Given the description of an element on the screen output the (x, y) to click on. 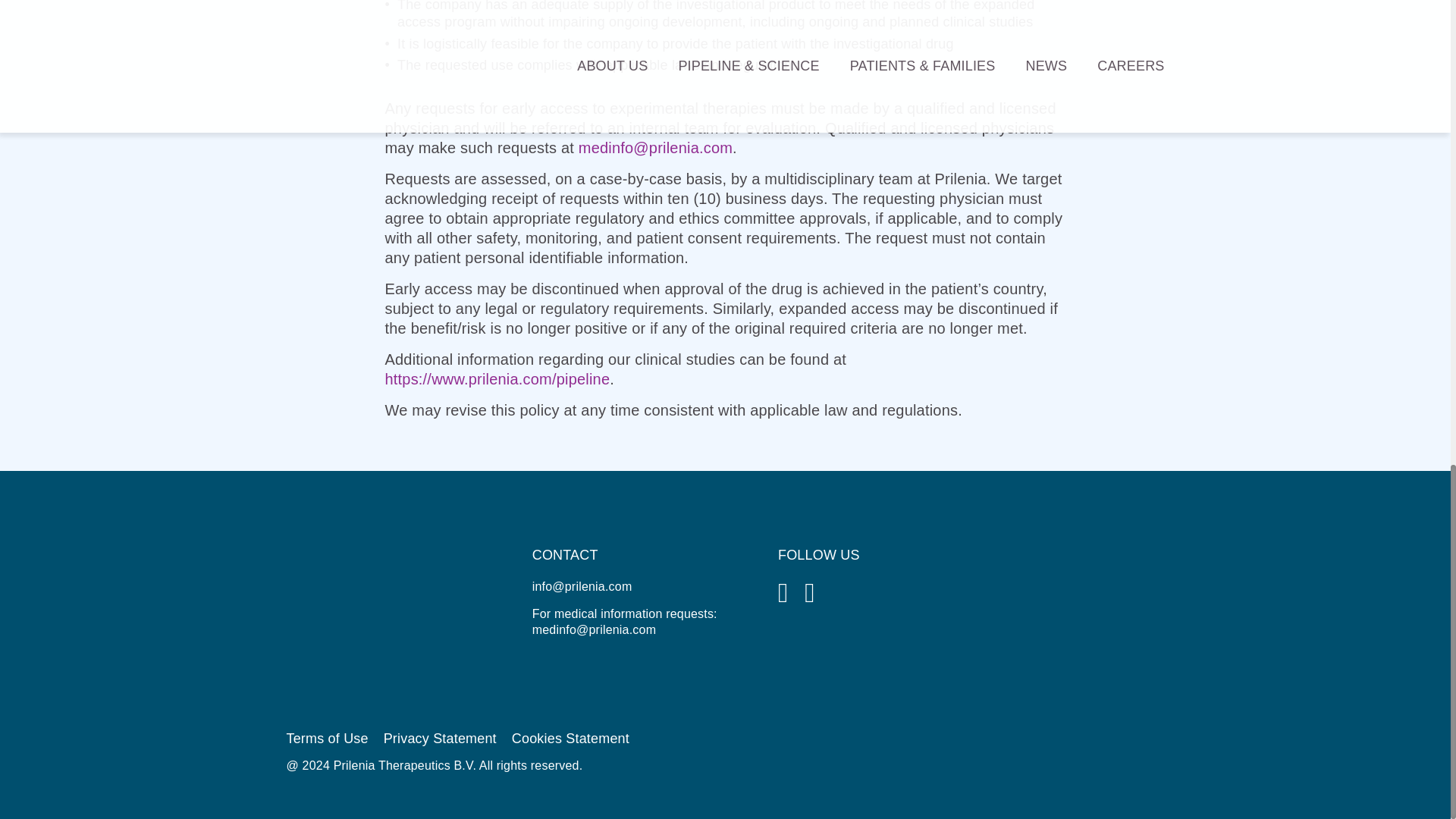
Privacy Statement (440, 738)
Terms of Use (327, 738)
Cookies Statement (570, 738)
